Given the description of an element on the screen output the (x, y) to click on. 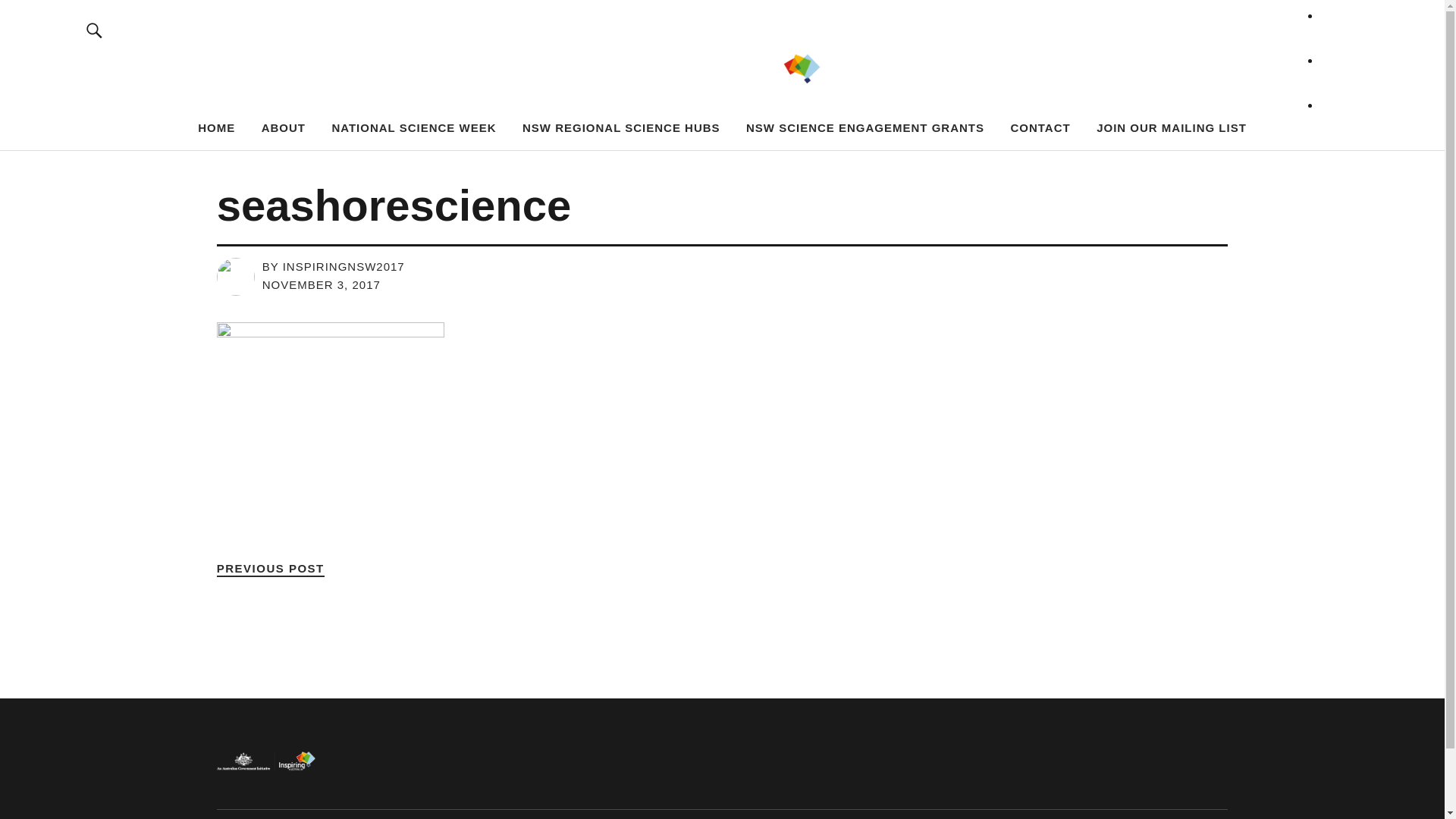
NSW SCIENCE ENGAGEMENT GRANTS Element type: text (865, 127)
Inspiring Australia Element type: text (275, 83)
CONTACT Element type: text (1040, 127)
JOIN OUR MAILING LIST Element type: text (1171, 127)
NATIONAL SCIENCE WEEK Element type: text (413, 127)
PREVIOUS POST Element type: text (270, 568)
NOVEMBER 3, 2017 Element type: text (321, 284)
INSPIRINGNSW2017 Element type: text (343, 266)
NSW REGIONAL SCIENCE HUBS Element type: text (621, 127)
ABOUT Element type: text (283, 127)
HOME Element type: text (216, 127)
